Given the description of an element on the screen output the (x, y) to click on. 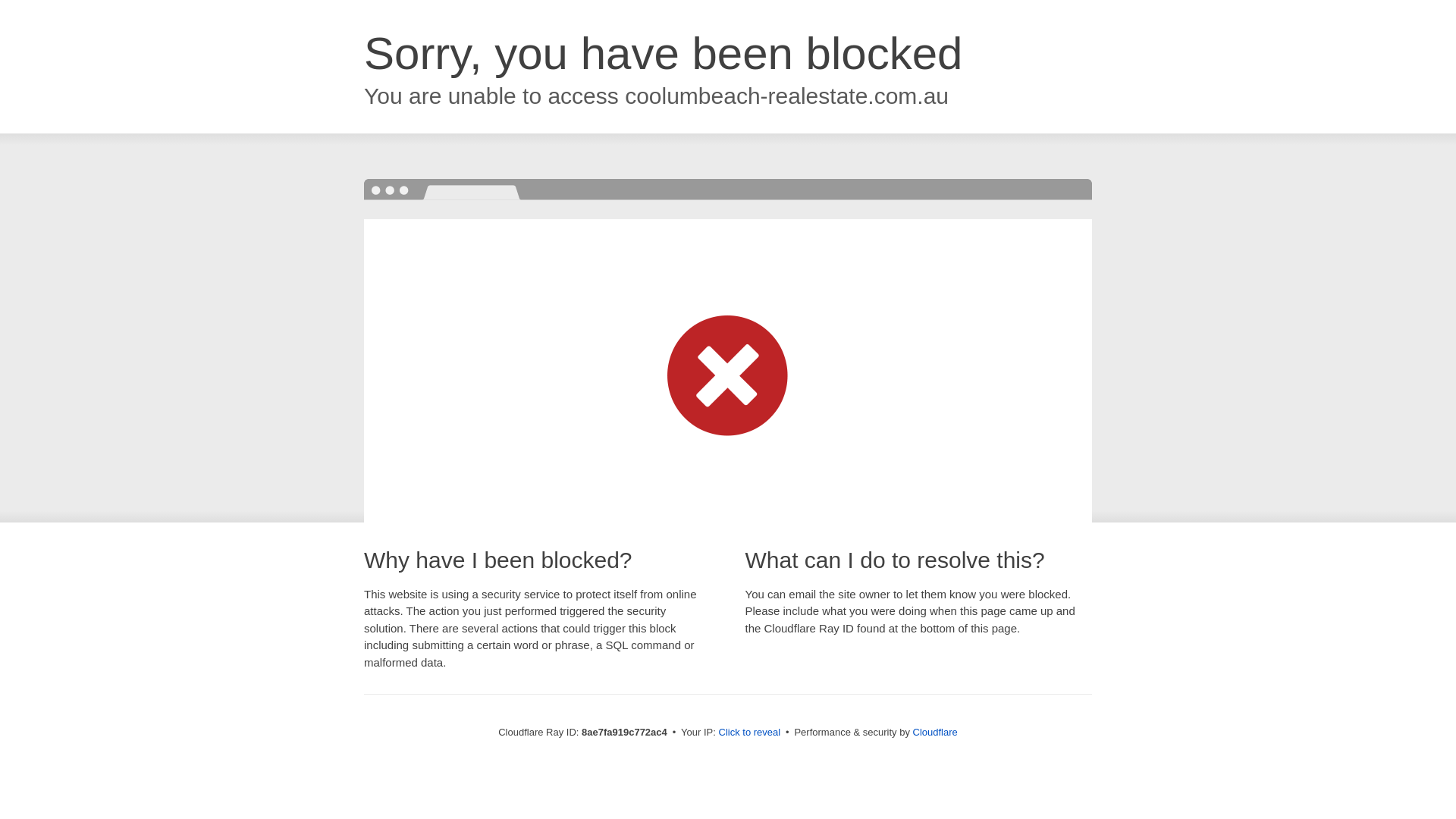
Cloudflare (935, 731)
Click to reveal (749, 732)
